Given the description of an element on the screen output the (x, y) to click on. 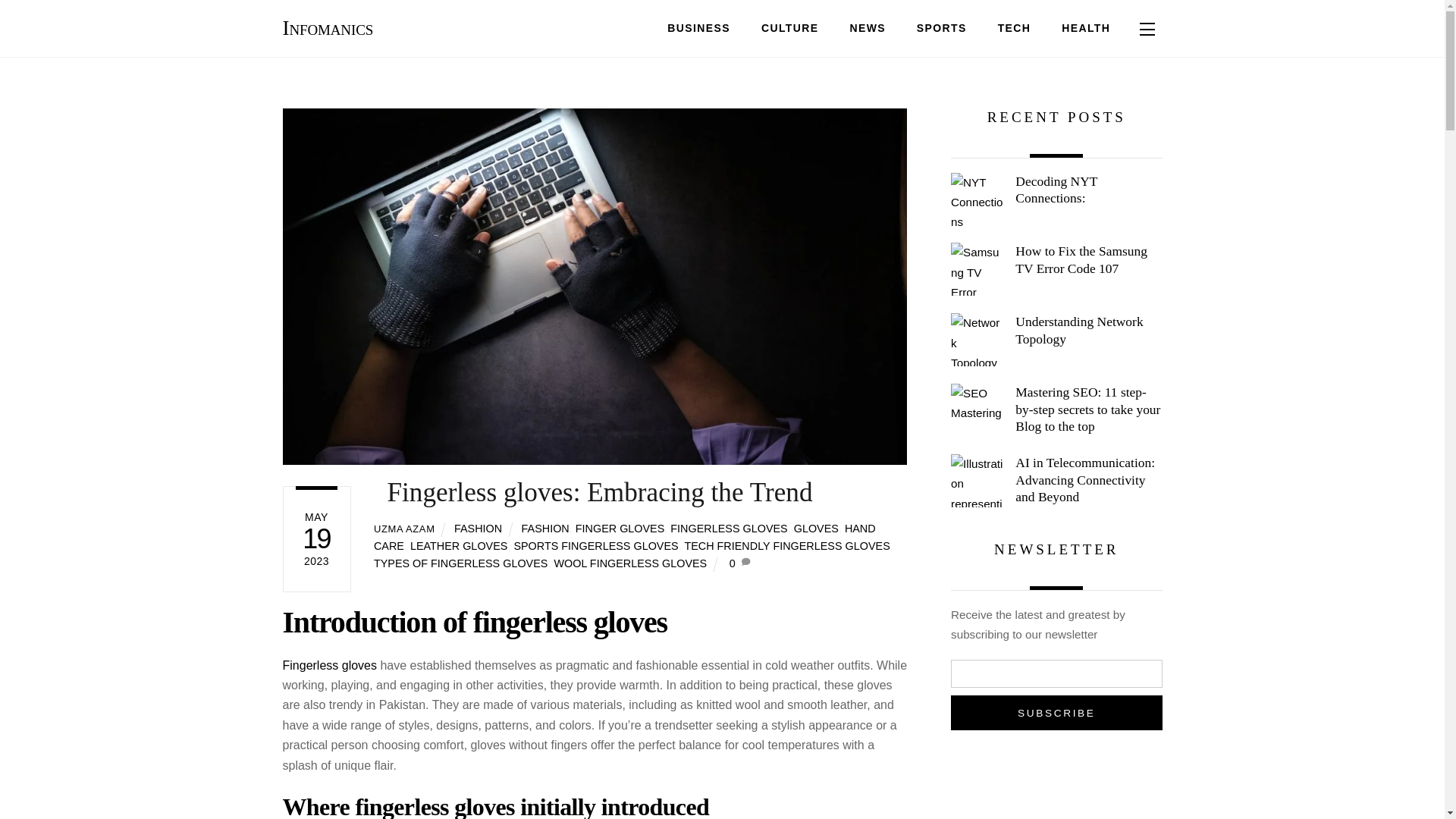
Infomanics (327, 27)
FASHION (478, 528)
Widgets (1146, 28)
FASHION (545, 528)
FINGERLESS GLOVES (728, 528)
LEATHER GLOVES (721, 28)
  Fingerless gloves: Embracing the Trend (459, 545)
BUSINESS (593, 491)
SPORTS (698, 28)
